Given the description of an element on the screen output the (x, y) to click on. 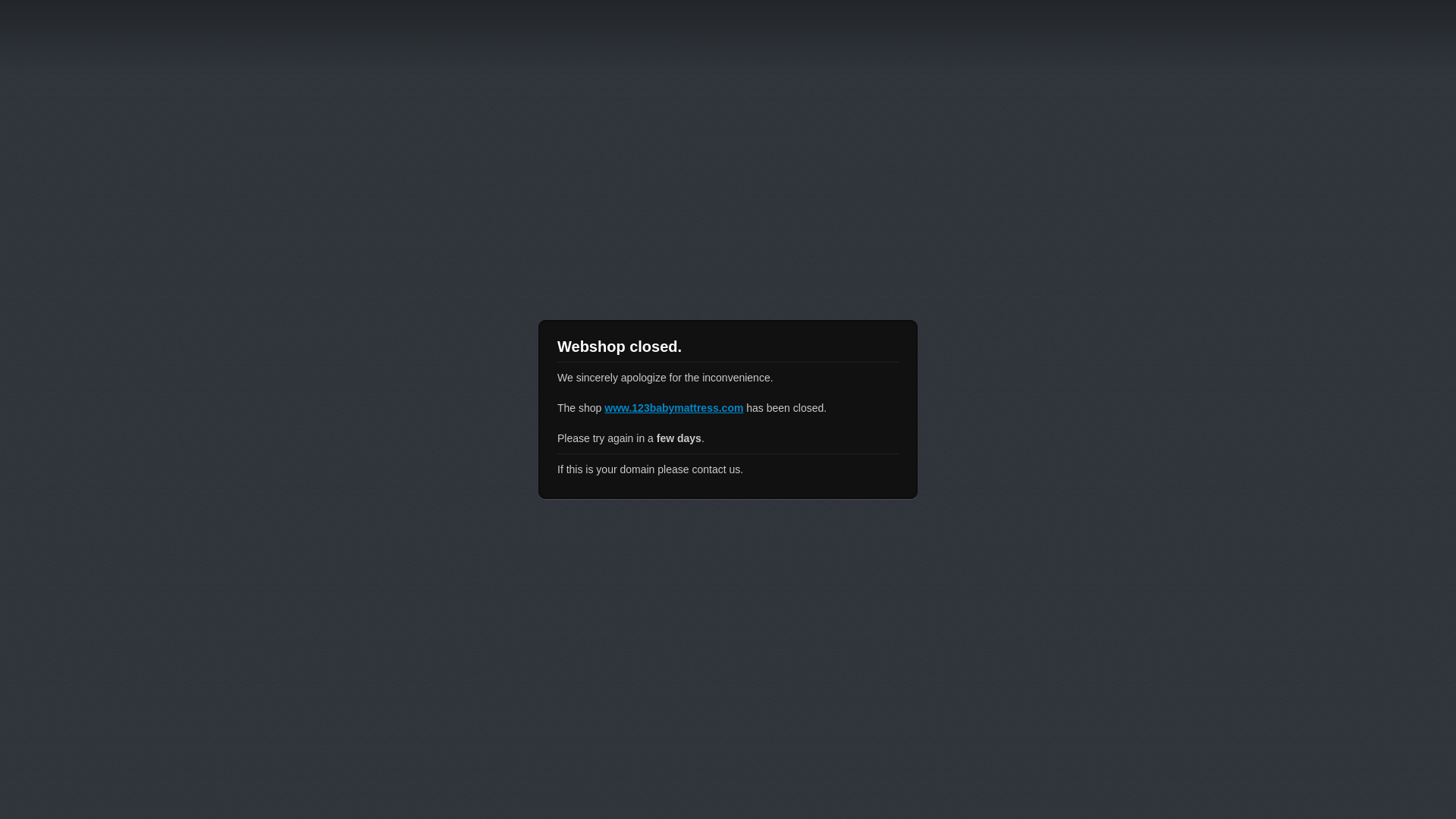
www.123babymattress.com Element type: text (673, 407)
